Given the description of an element on the screen output the (x, y) to click on. 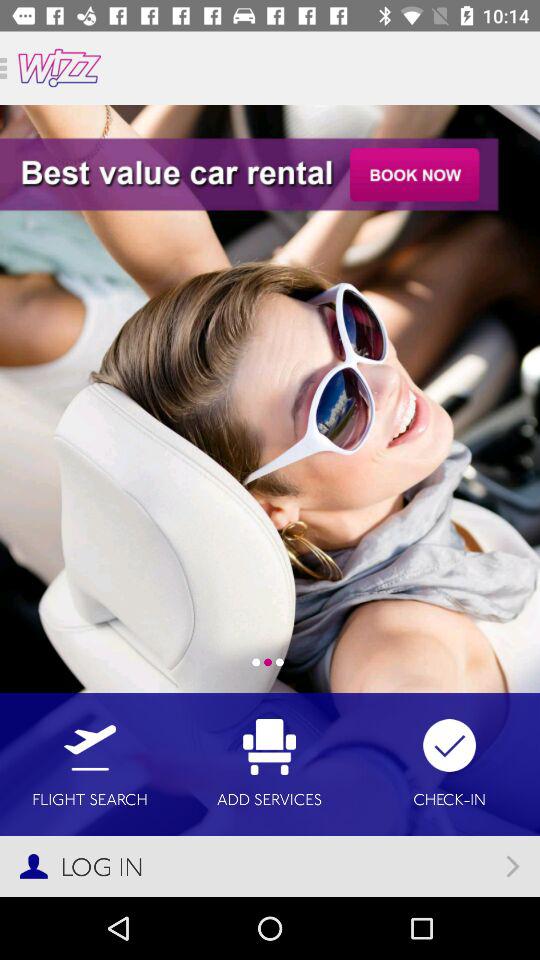
select flight search (90, 764)
